Given the description of an element on the screen output the (x, y) to click on. 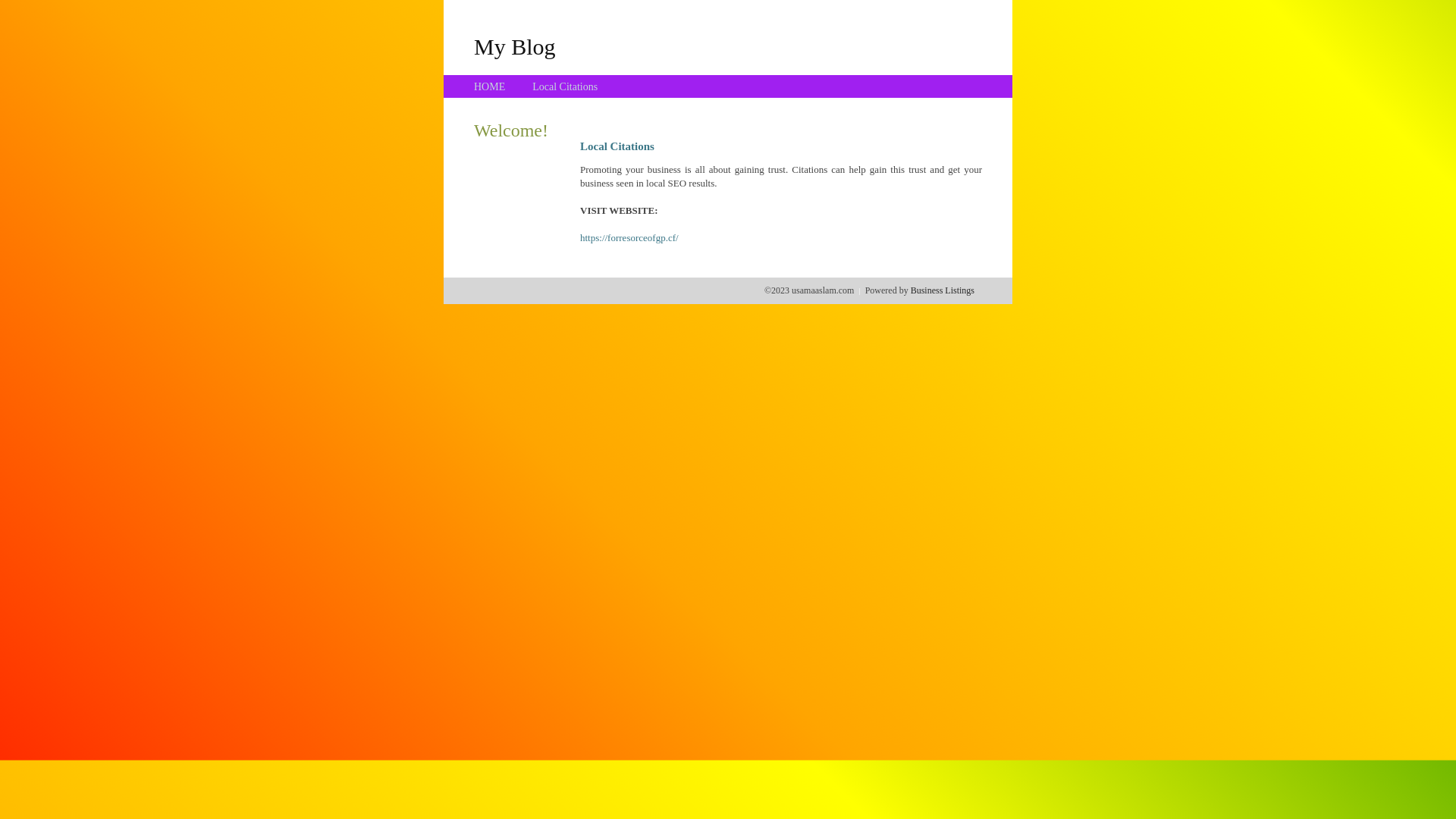
HOME Element type: text (489, 86)
My Blog Element type: text (514, 46)
Local Citations Element type: text (564, 86)
Business Listings Element type: text (942, 290)
https://forresorceofgp.cf/ Element type: text (629, 237)
